Given the description of an element on the screen output the (x, y) to click on. 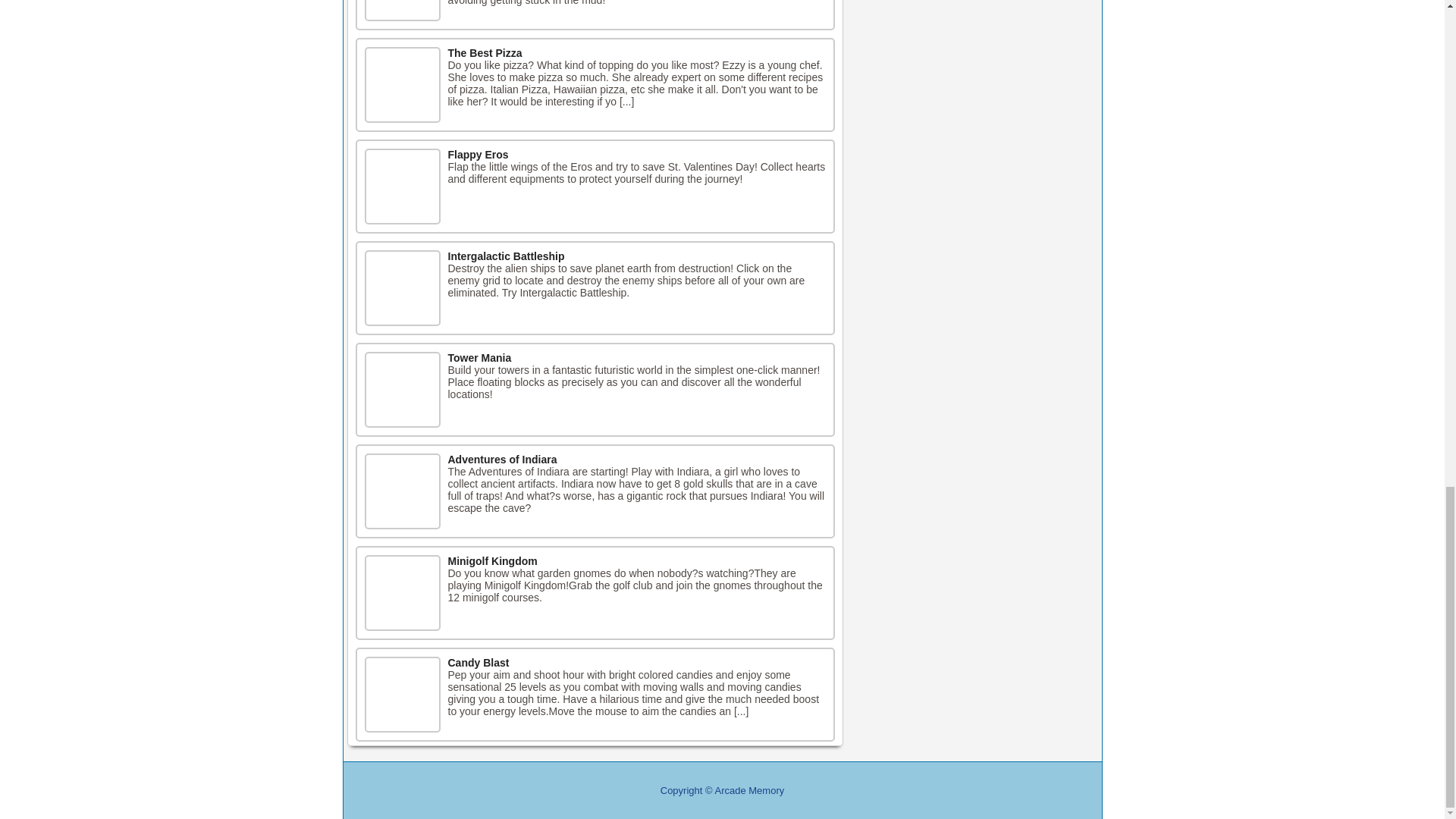
Flappy Eros (477, 154)
The Best Pizza (483, 52)
Intergalactic Battleship (505, 256)
Tower Mania (478, 357)
